Given the description of an element on the screen output the (x, y) to click on. 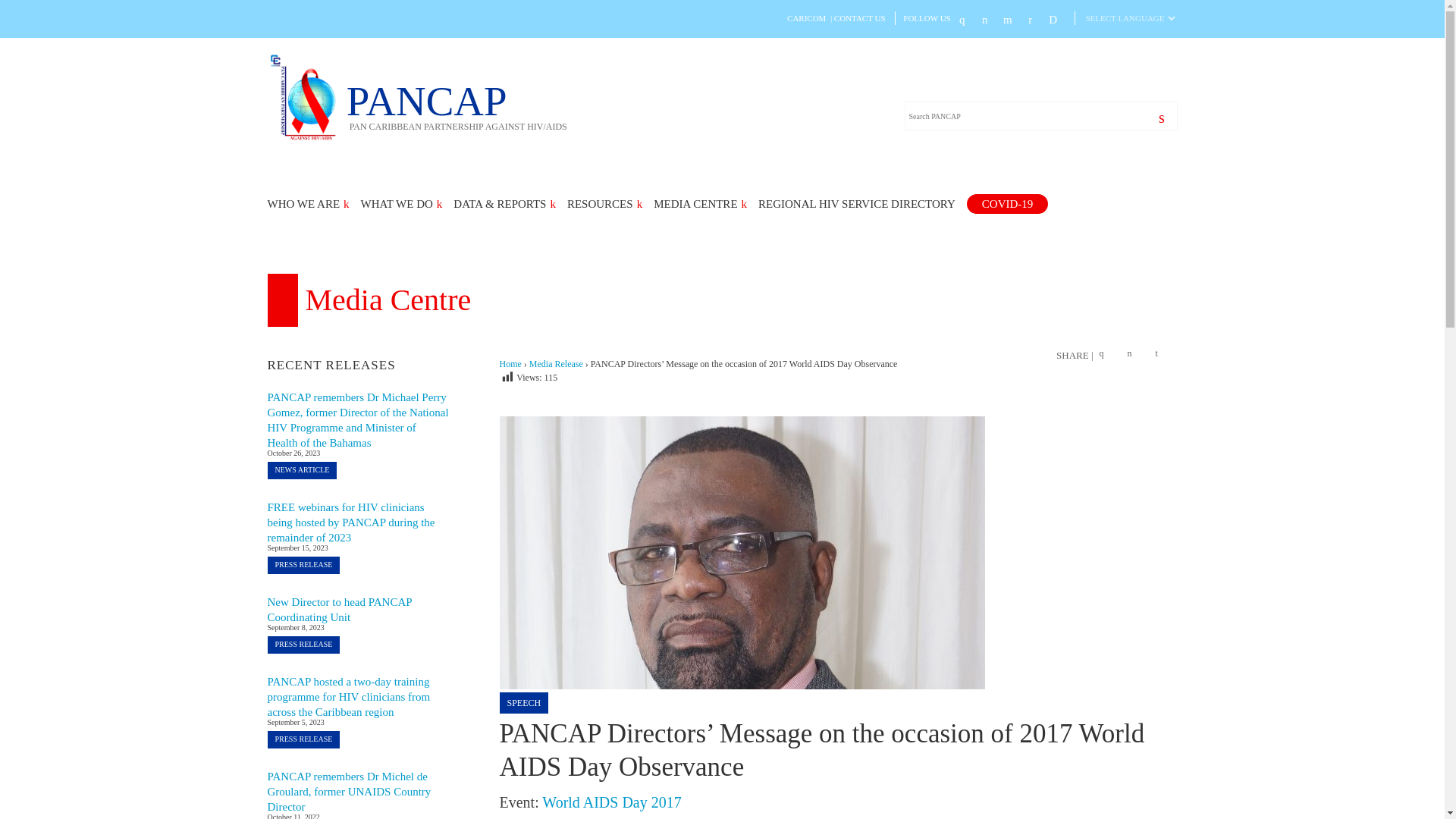
CARICOM (806, 17)
CONTACT US (859, 17)
Click to share on Facebook (1105, 354)
Click to email this to a friend (1161, 354)
New Director to head PANCAP Coordinating Unit (339, 609)
PANCAP (306, 138)
Click to share on Twitter (1132, 354)
PANCAP (456, 105)
